Given the description of an element on the screen output the (x, y) to click on. 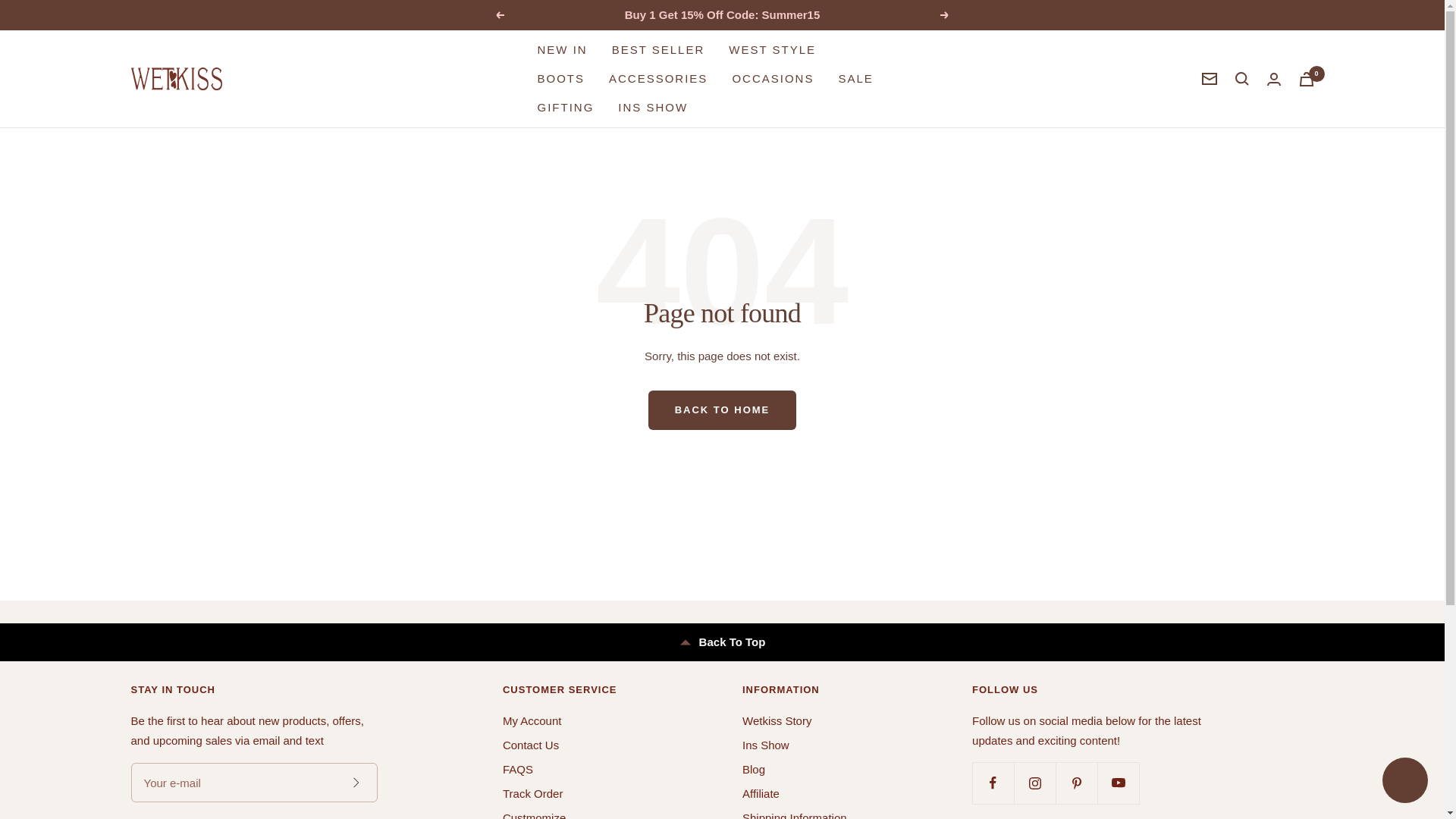
INS SHOW (652, 107)
BOOTS (561, 78)
OCCASIONS (772, 78)
Wetkiss (176, 78)
GIFTING (565, 107)
Ins Show (765, 745)
0 (1305, 79)
Register (355, 782)
Shipping Information (794, 813)
BEST SELLER (657, 49)
